Given the description of an element on the screen output the (x, y) to click on. 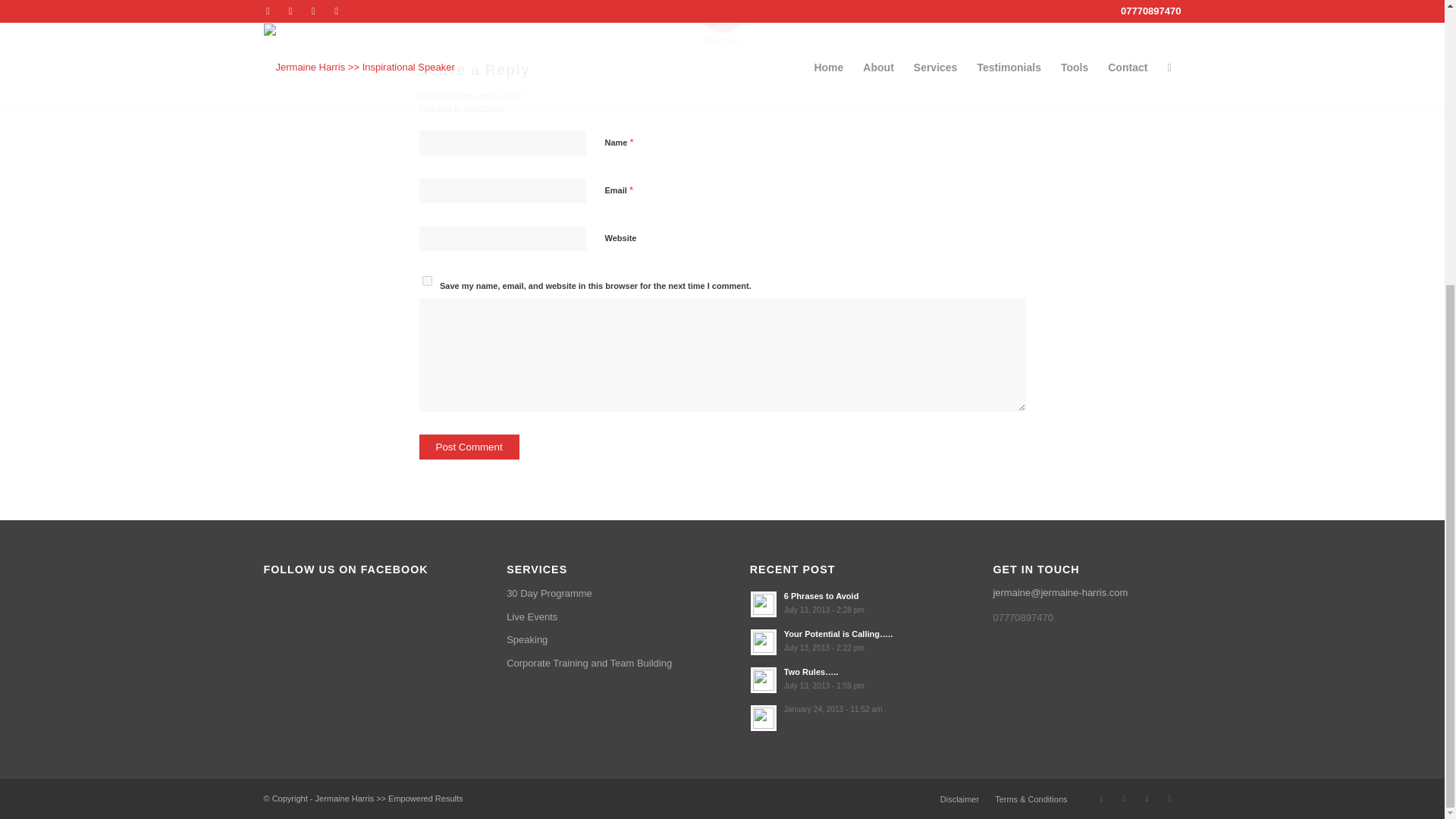
Live Events (600, 617)
Facebook (1101, 798)
LinkedIn (1169, 798)
yes (843, 603)
Disclaimer (426, 280)
Corporate Training and Team Building (959, 798)
Post Comment (600, 662)
Youtube (468, 446)
Twitter (1146, 798)
